Given the description of an element on the screen output the (x, y) to click on. 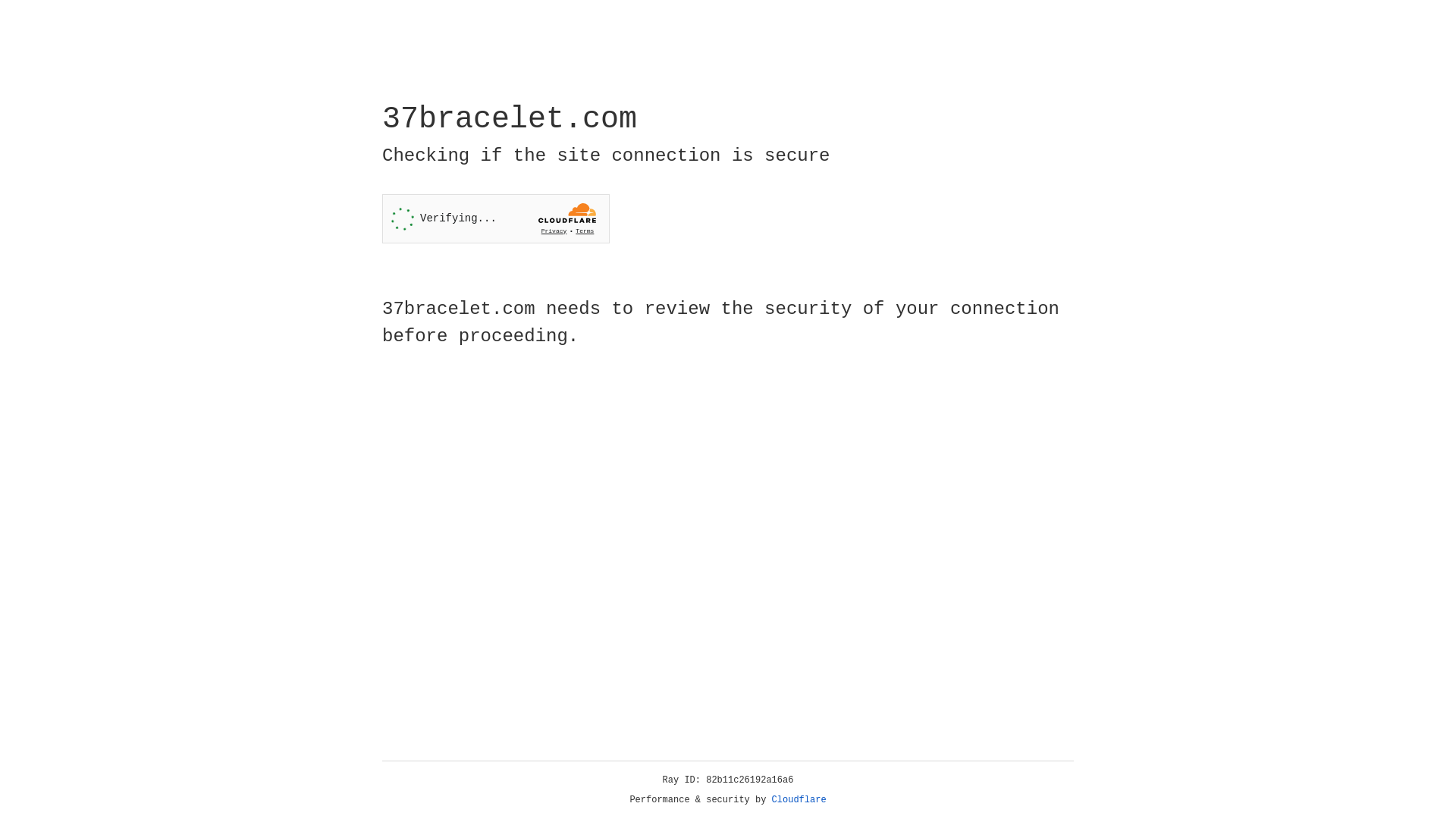
Widget containing a Cloudflare security challenge Element type: hover (495, 218)
Cloudflare Element type: text (798, 799)
